Given the description of an element on the screen output the (x, y) to click on. 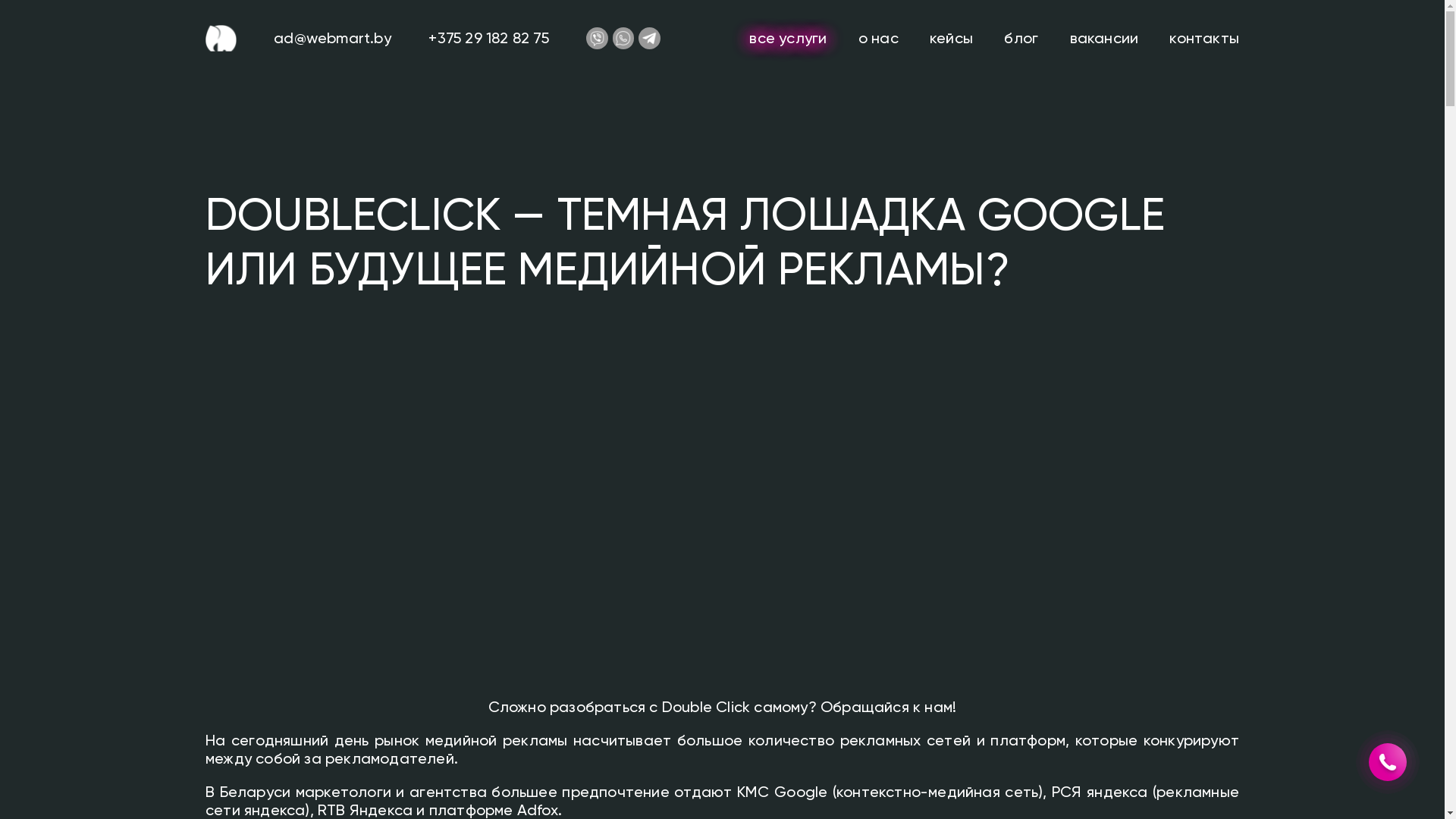
ad@webmart.by Element type: text (332, 37)
+375 29 182 82 75 Element type: text (488, 37)
